Given the description of an element on the screen output the (x, y) to click on. 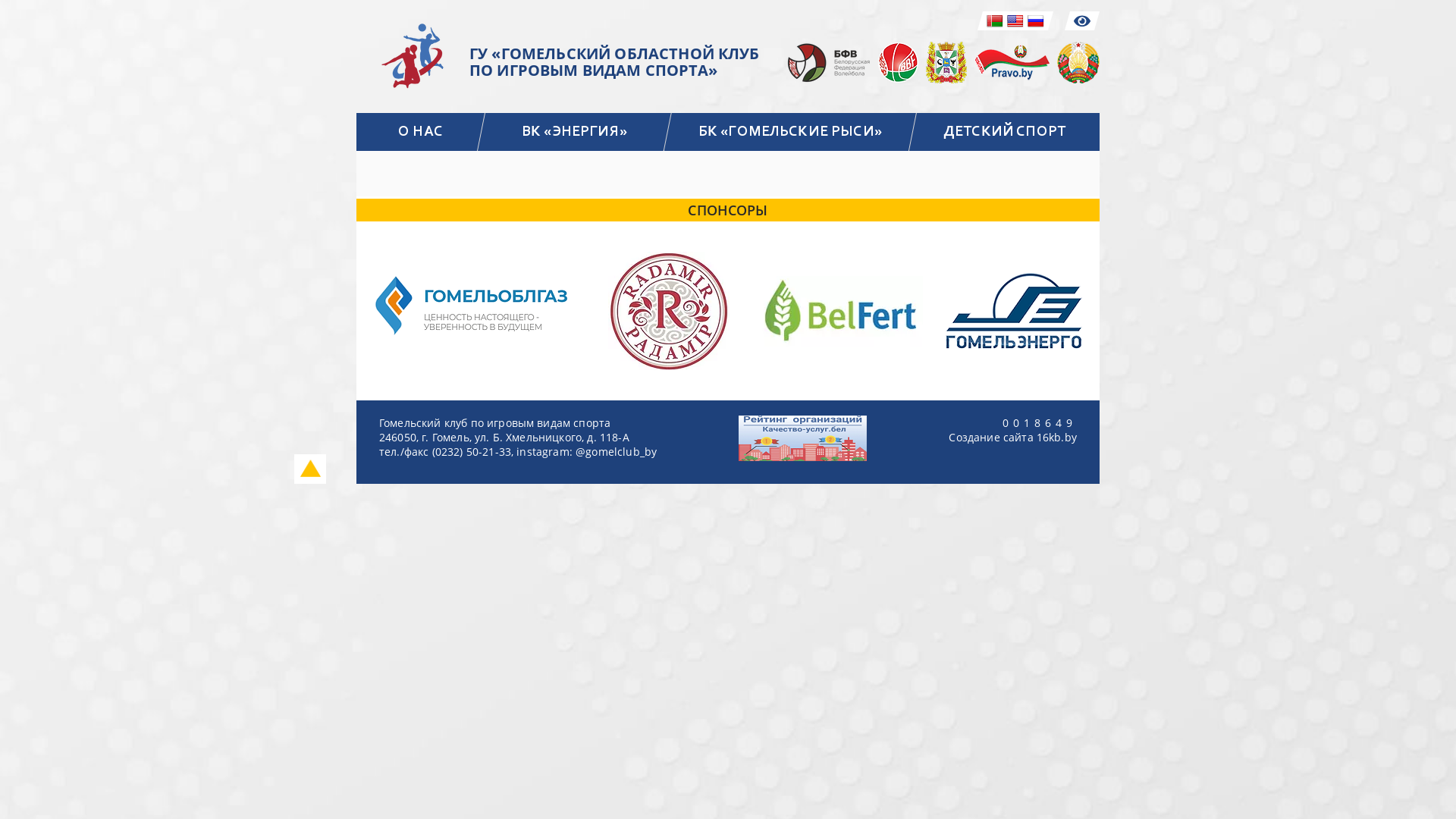
English Element type: hover (1015, 20)
Belarusian Element type: hover (994, 20)
Russian Element type: hover (1035, 20)
